Given the description of an element on the screen output the (x, y) to click on. 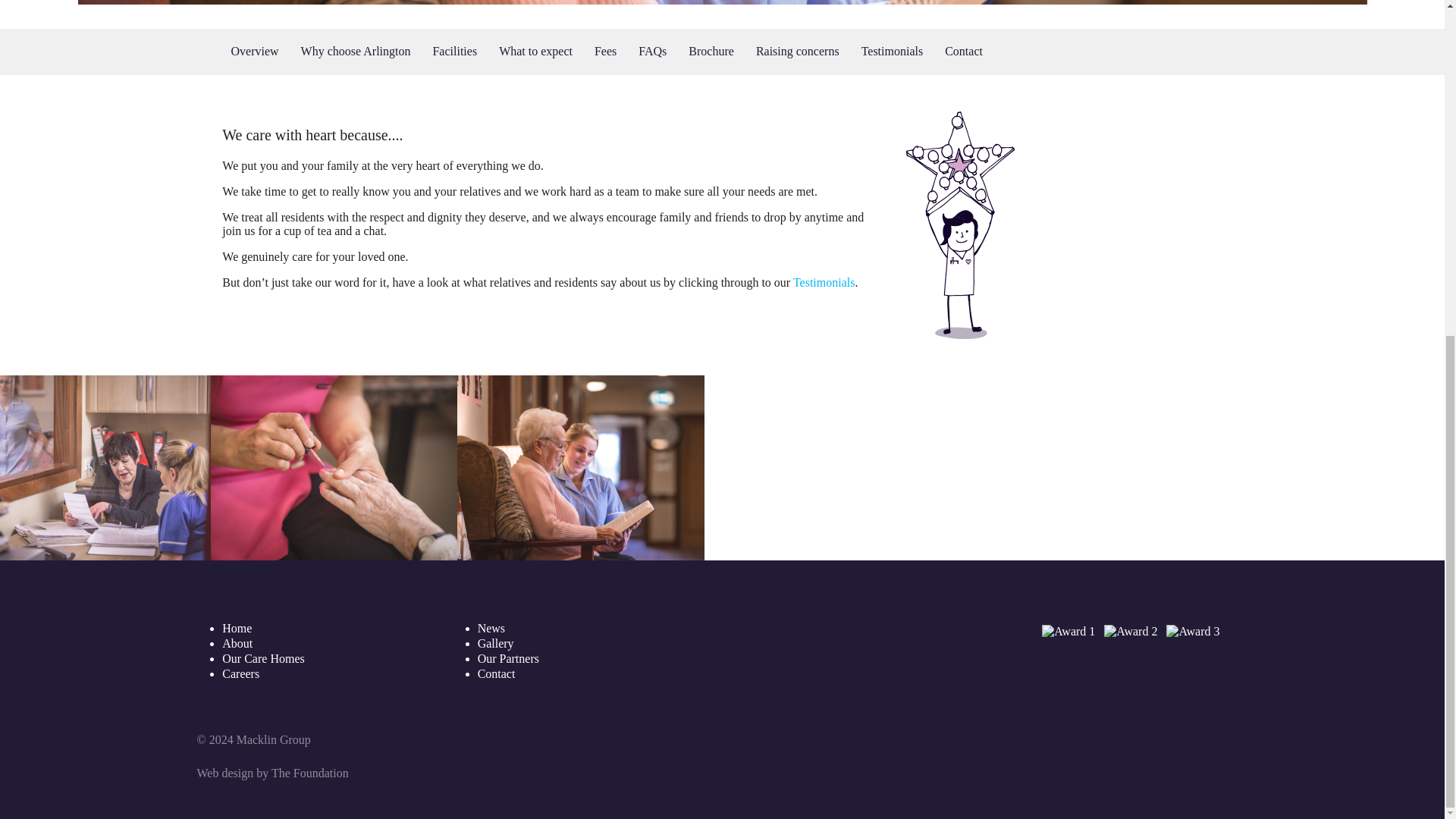
Testimonials (824, 282)
Overview (253, 51)
Contact (963, 51)
Testimonials (892, 51)
Facilities (454, 51)
Brochure (710, 51)
Why choose Arlington (356, 51)
Home (236, 627)
What to expect (534, 51)
Raising concerns (797, 51)
